Given the description of an element on the screen output the (x, y) to click on. 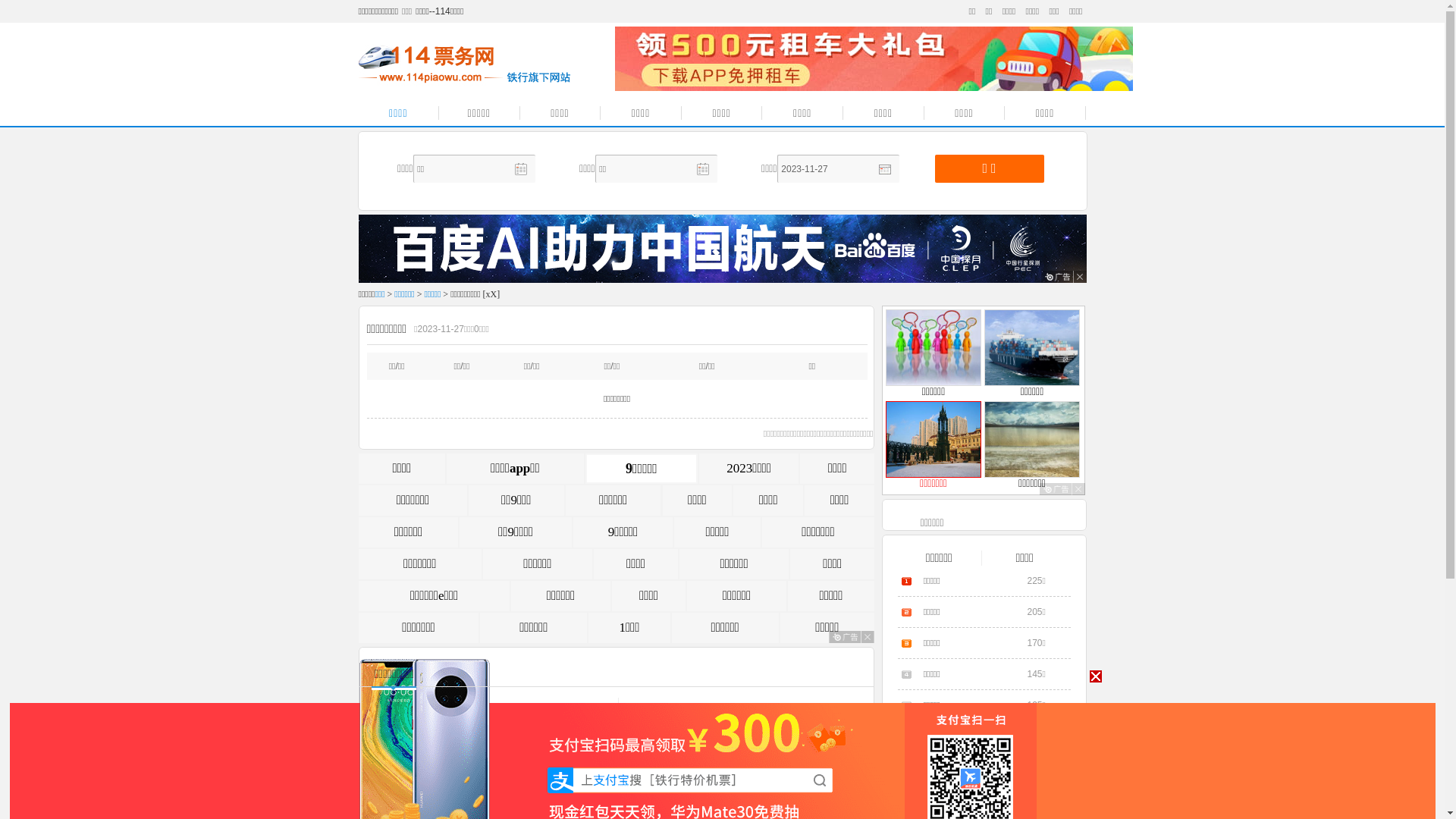
[xX] Element type: text (491, 293)
